Given the description of an element on the screen output the (x, y) to click on. 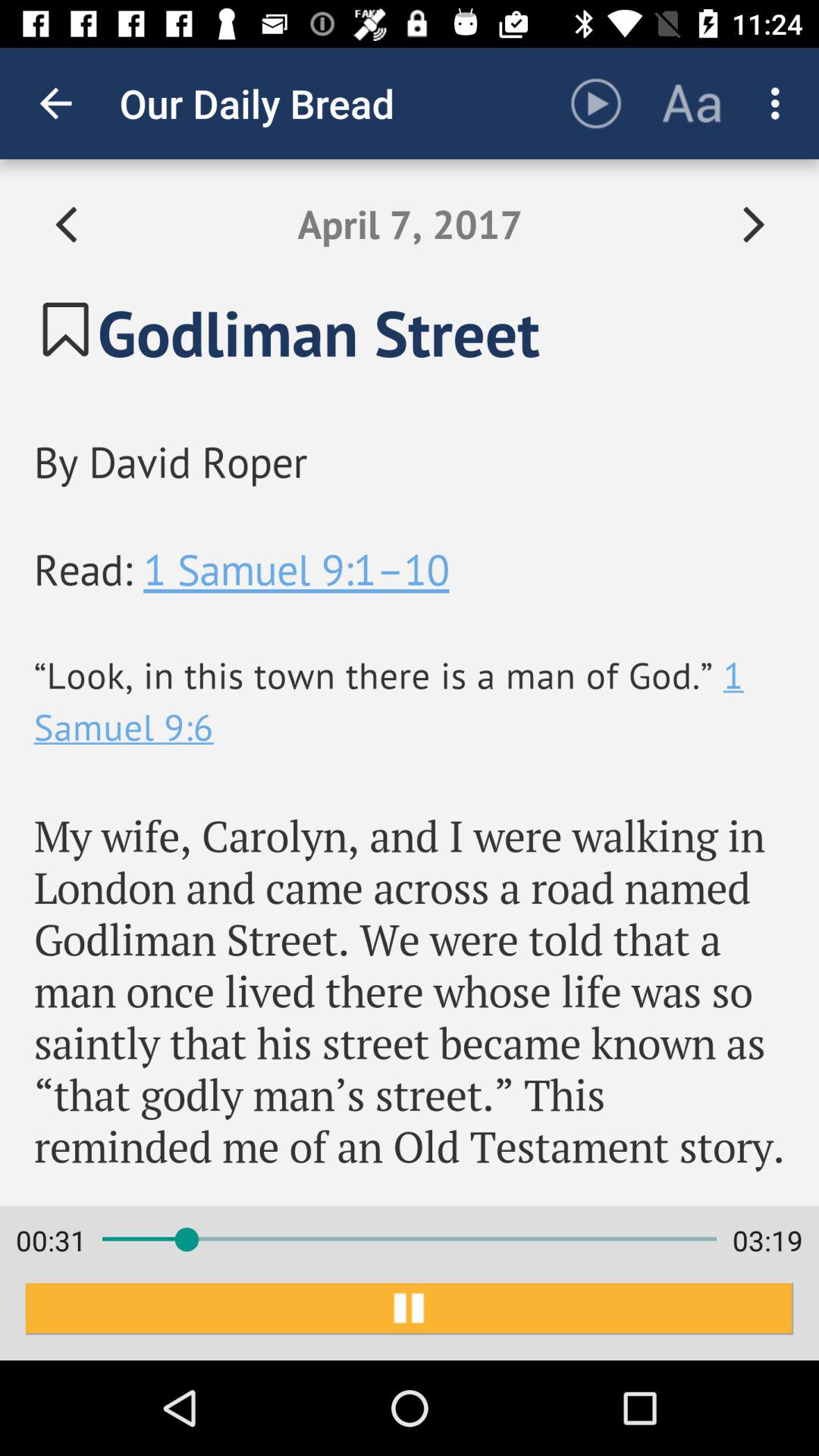
tap item next to the our daily bread app (55, 103)
